Given the description of an element on the screen output the (x, y) to click on. 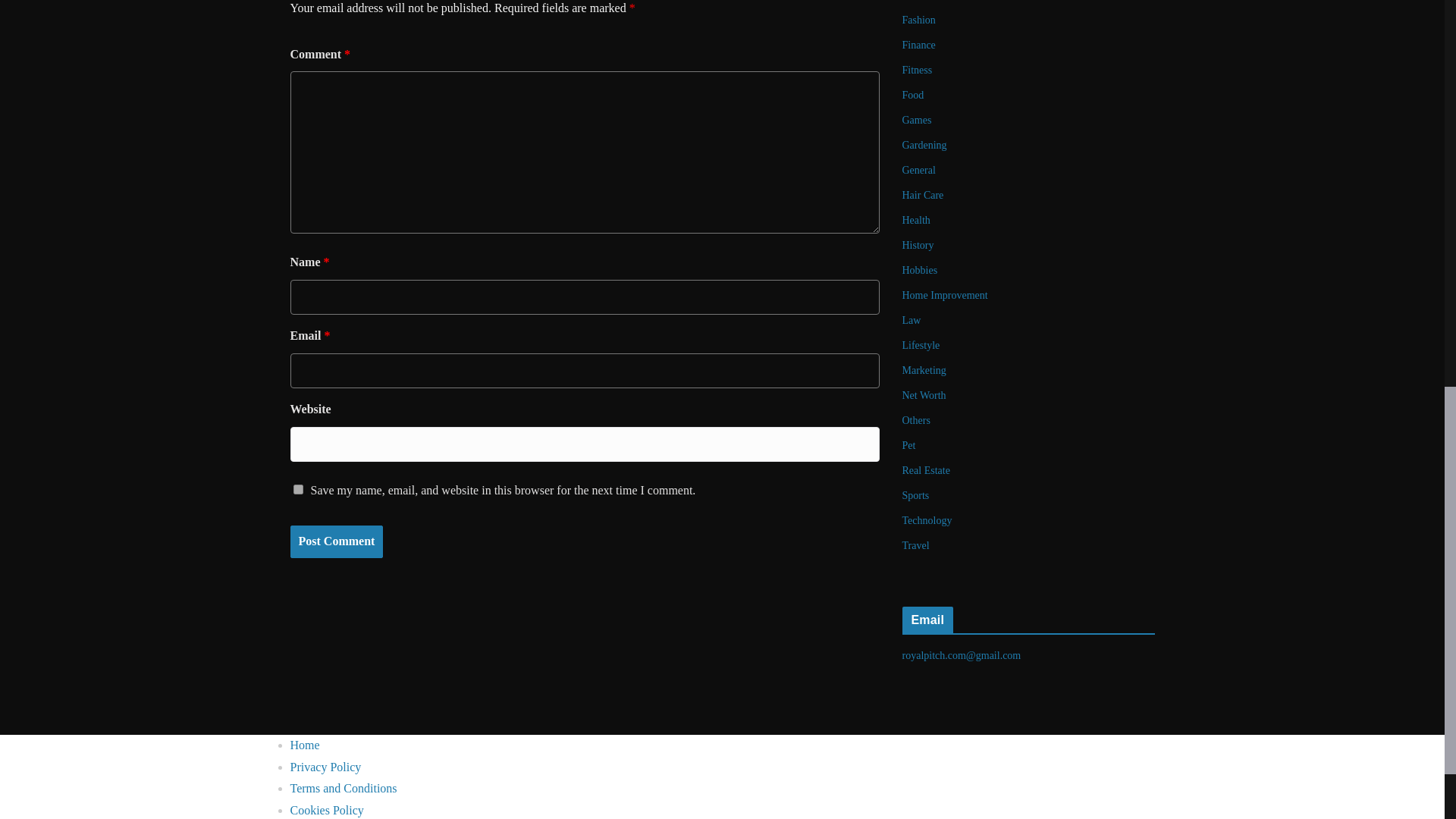
Fitness (917, 70)
Hair Care (922, 194)
Games (916, 120)
Post Comment (335, 541)
yes (297, 488)
Finance (919, 44)
Fashion (919, 19)
History (918, 244)
General (919, 170)
Health (916, 220)
Post Comment (335, 541)
Gardening (924, 144)
Entertainment (932, 0)
Food (913, 94)
